Given the description of an element on the screen output the (x, y) to click on. 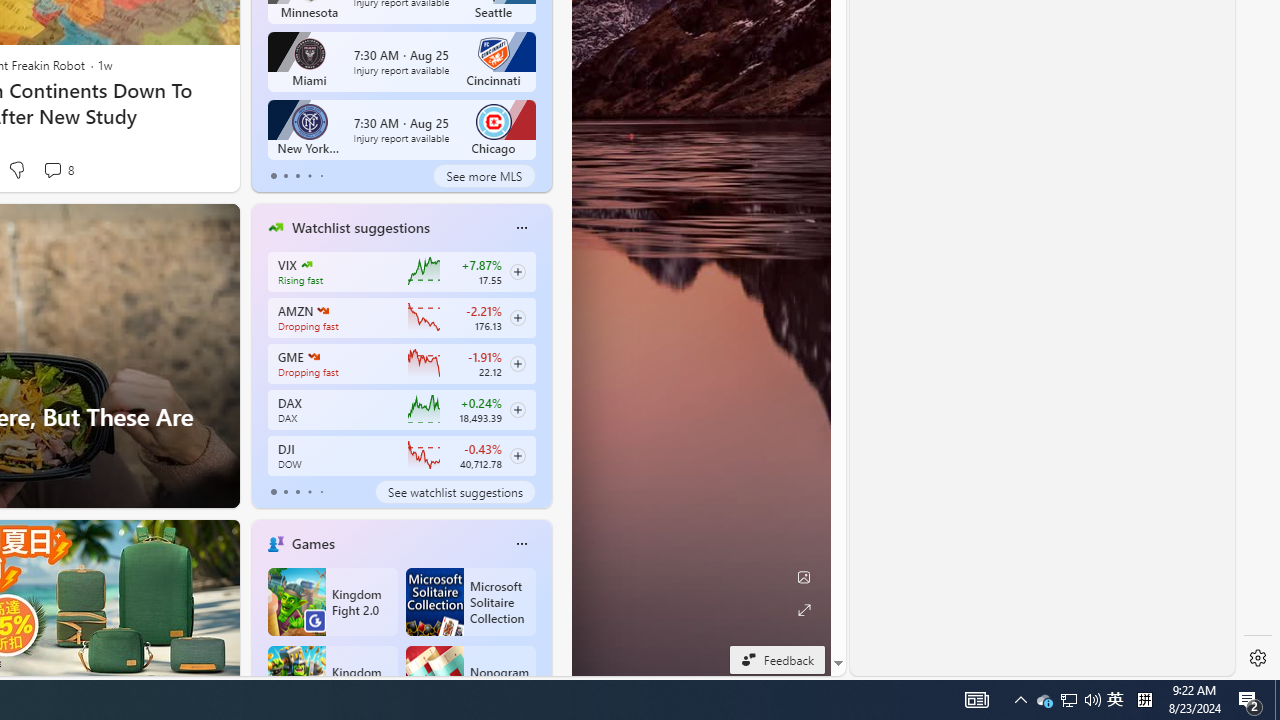
See more MLS (484, 175)
Microsoft Solitaire Collection (470, 601)
Edit Background (803, 577)
Expand background (803, 610)
See watchlist suggestions (454, 491)
tab-3 (309, 491)
Kingdom Fight 2.0 (332, 601)
Class: follow-button  m (517, 455)
Class: icon-img (521, 543)
tab-2 (297, 491)
Class: sd-card-game-item-img-inner (433, 679)
